Given the description of an element on the screen output the (x, y) to click on. 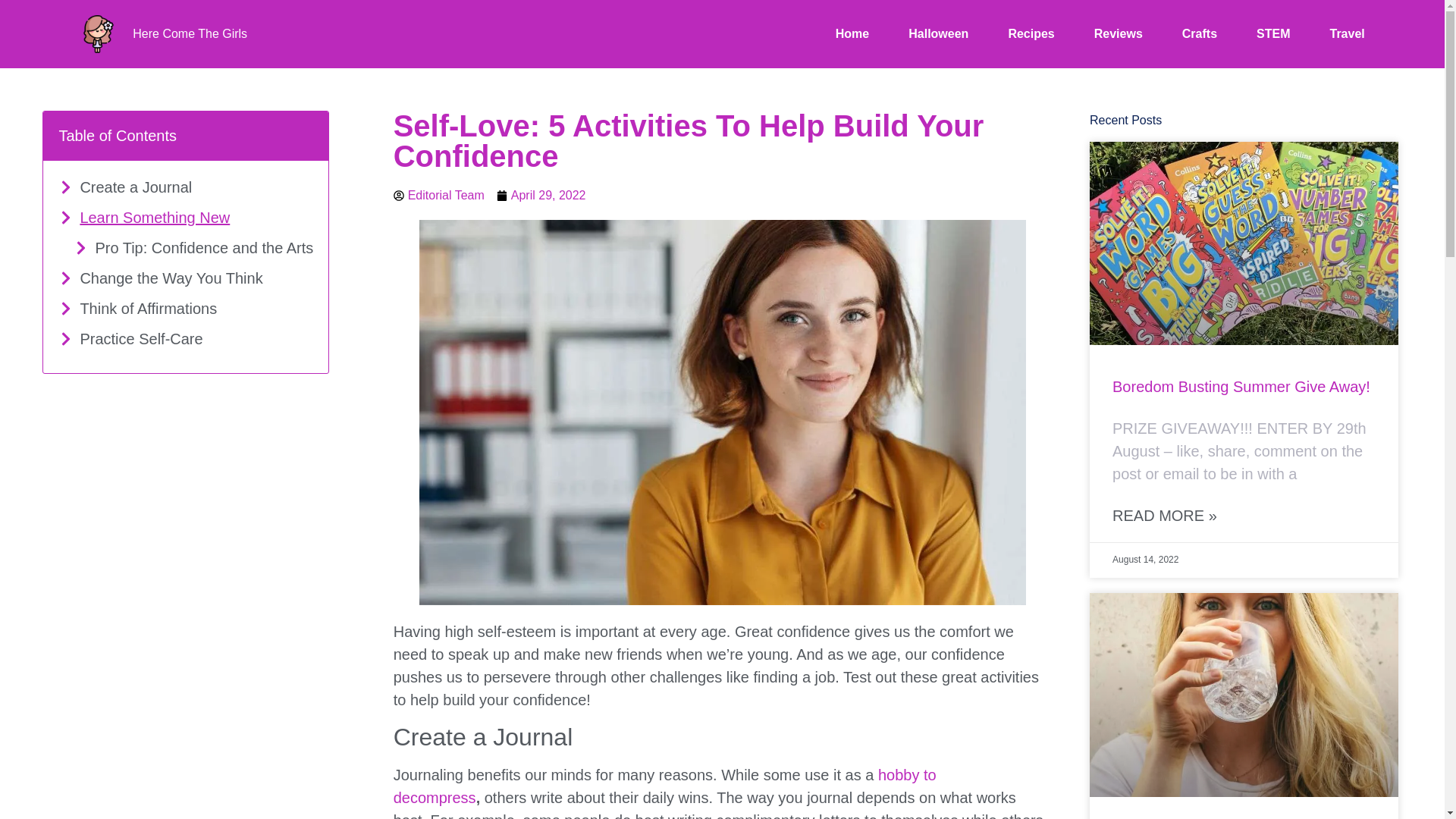
Home (852, 34)
Crafts (1199, 34)
Travel (1346, 34)
Recipes (1030, 34)
STEM (1273, 34)
Reviews (1118, 34)
Pro Tip: Confidence and the Arts (203, 247)
Change the Way You Think (171, 277)
Learn Something New (155, 217)
Practice Self-Care (141, 338)
